Given the description of an element on the screen output the (x, y) to click on. 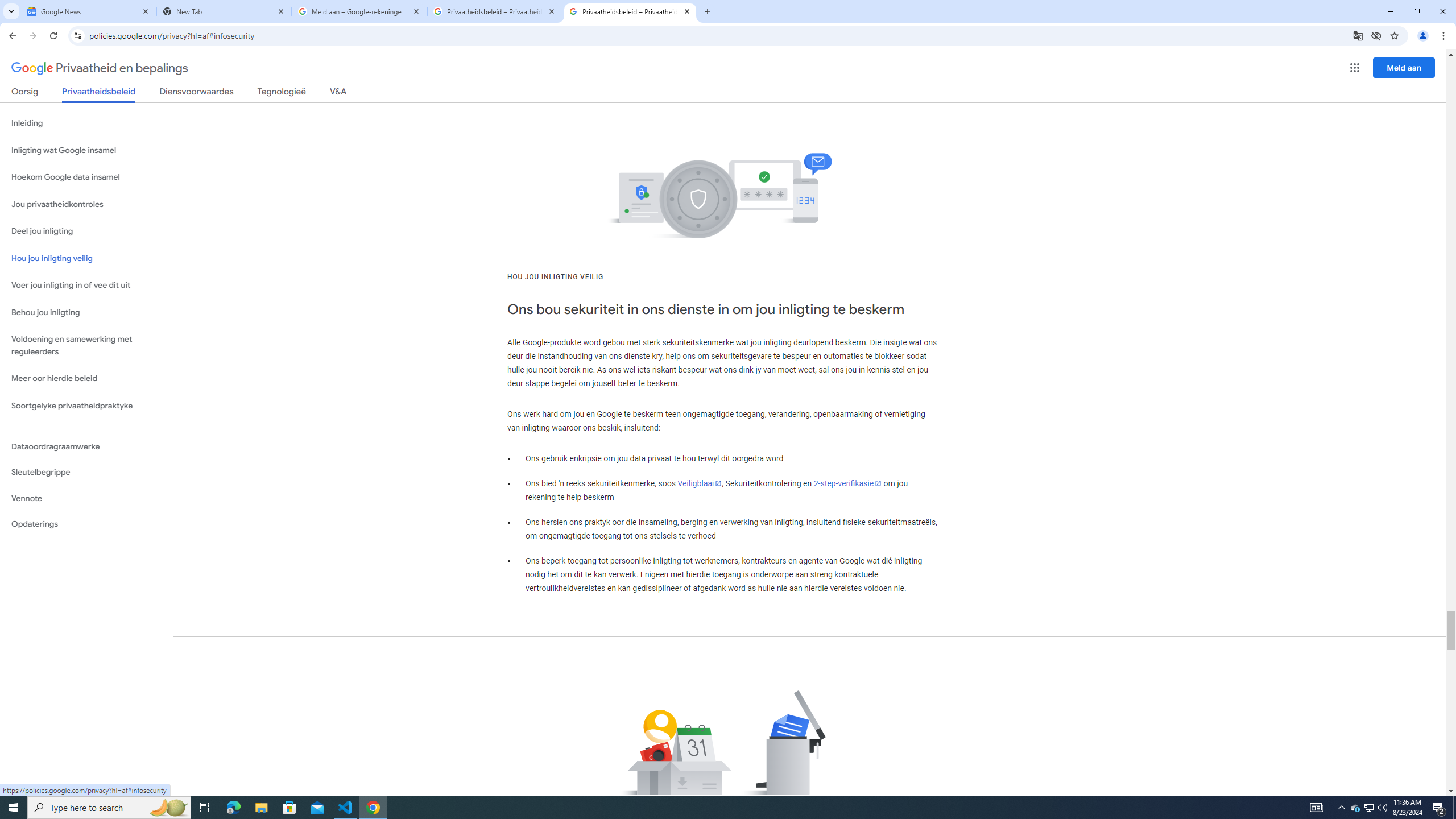
Meer oor hierdie beleid (86, 379)
Jou privaatheidkontroles (86, 204)
Veiligblaai (699, 483)
Meld aan (1404, 67)
Voer jou inligting in of vee dit uit (86, 284)
Hoekom Google data insamel (86, 176)
Privaatheid en bepalings (99, 68)
2-step-verifikasie (847, 483)
